Given the description of an element on the screen output the (x, y) to click on. 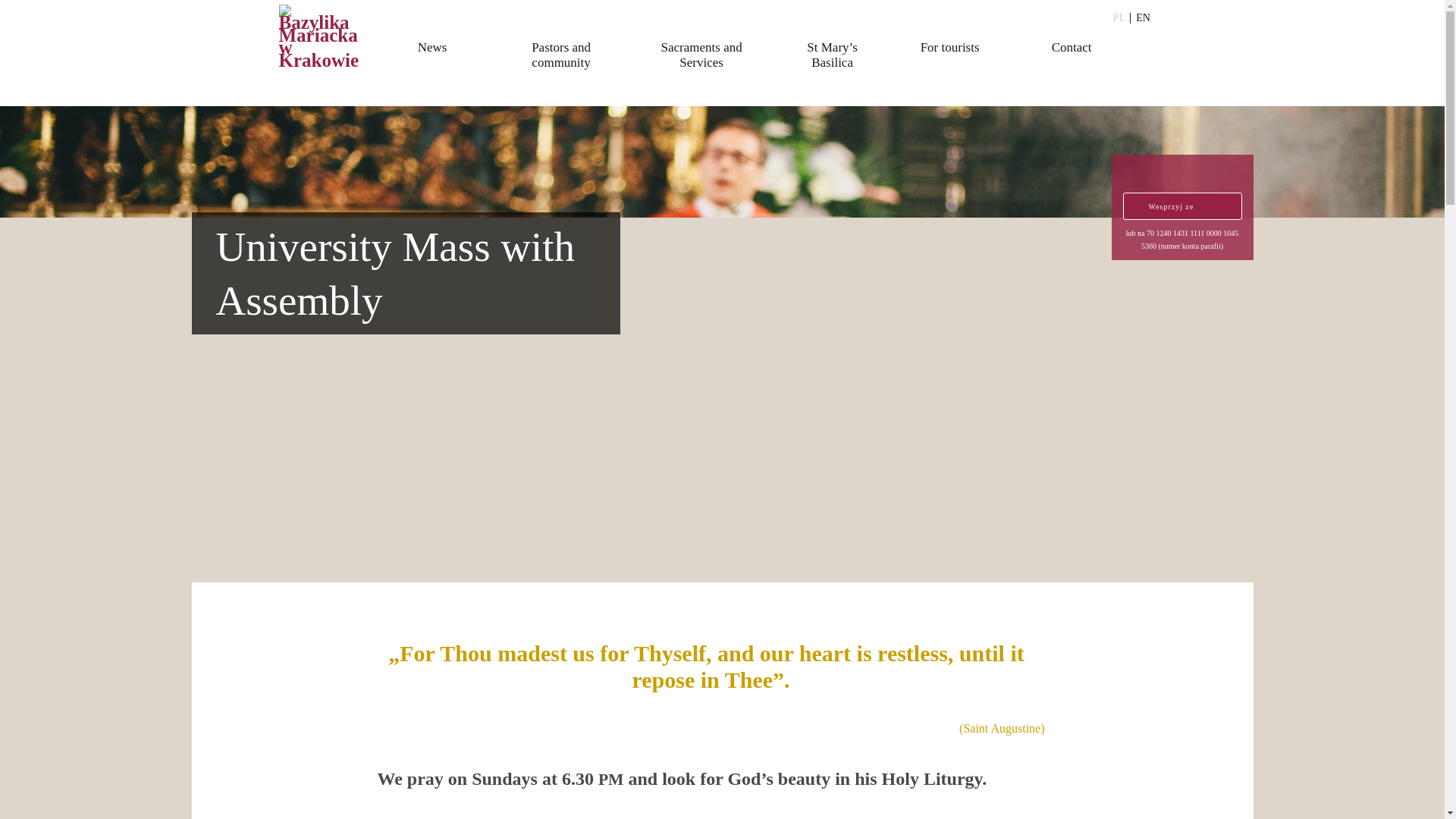
News (430, 65)
Pastors and community (559, 65)
PL (1119, 18)
For tourists (948, 65)
EN (1143, 18)
Contact (1061, 65)
Sacraments and Services (700, 65)
